Given the description of an element on the screen output the (x, y) to click on. 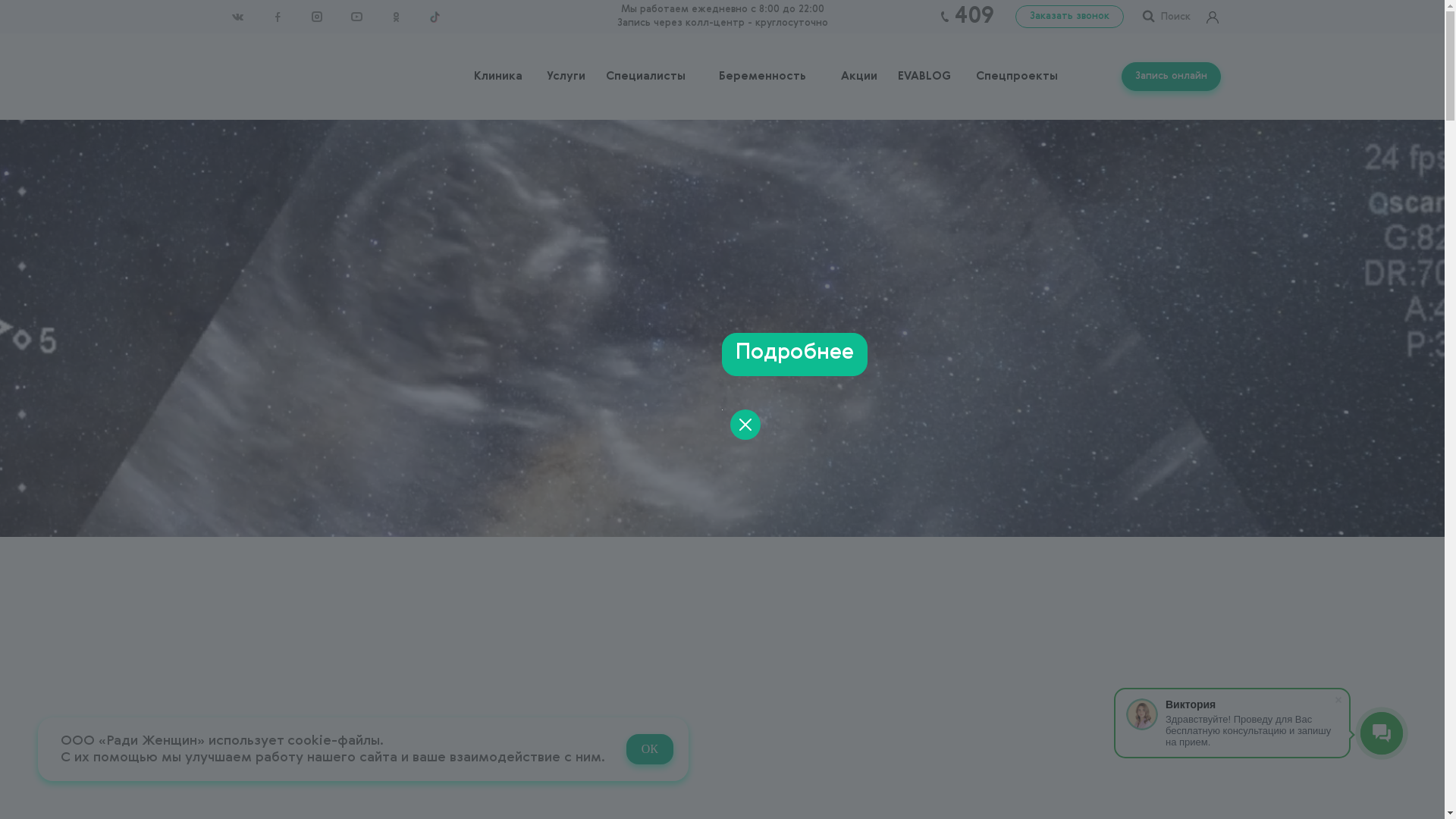
YouTube Element type: text (355, 16)
EVABLOG Element type: text (924, 76)
Facebook Element type: text (276, 16)
409 Element type: text (973, 16)
Instagram Element type: text (316, 16)
EVACLINIC Element type: hover (224, 74)
TikTok Element type: text (434, 16)
